Given the description of an element on the screen output the (x, y) to click on. 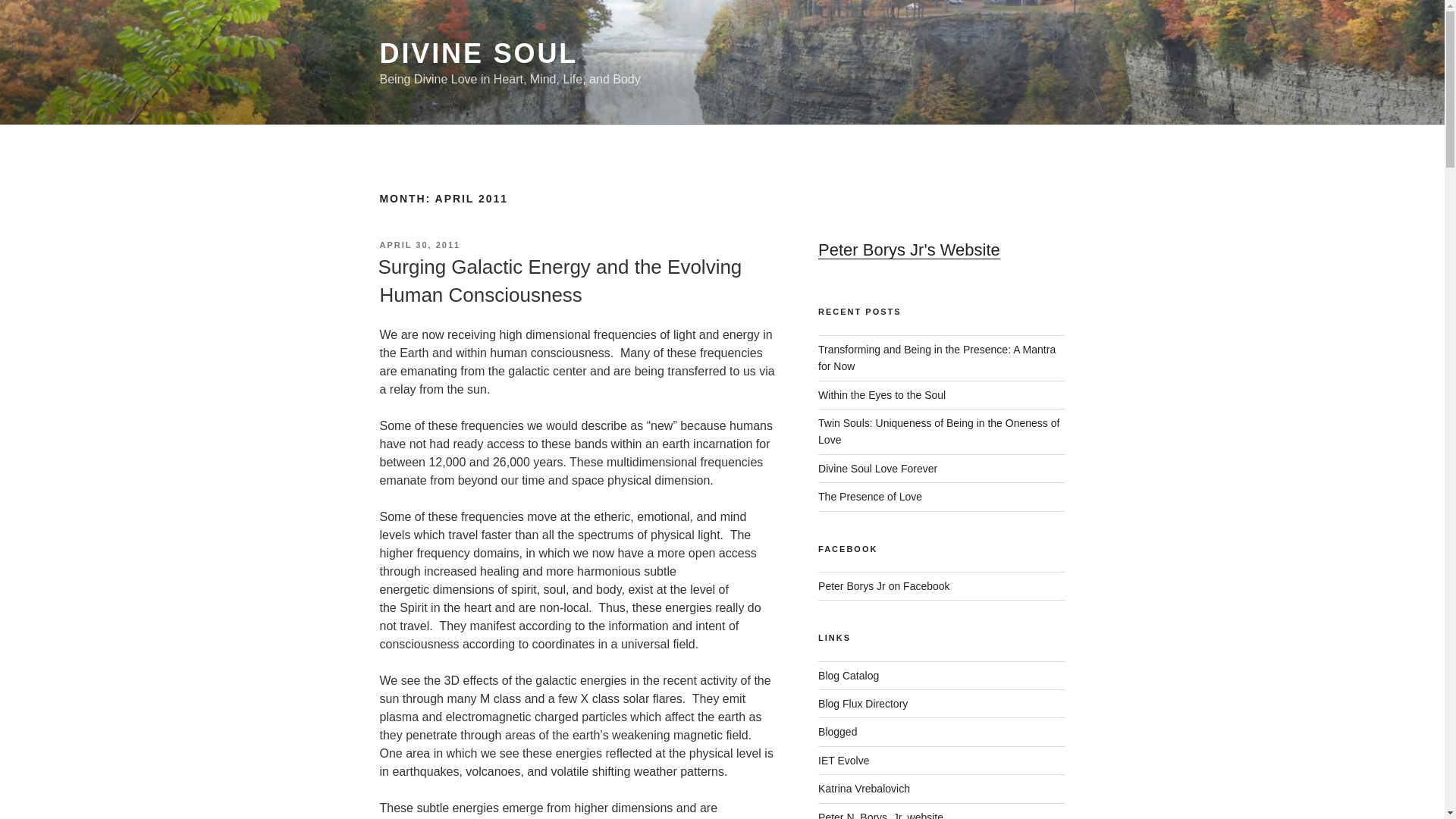
The Presence of Love (869, 496)
Katrina Vrebalovich (864, 788)
Peter Borys Jr's Website (909, 249)
DIVINE SOUL (478, 52)
Blog Catalog (848, 675)
Divine Soul Love Forever (877, 468)
The website of Peter N. Borys, Jr. (880, 815)
Twin Souls: Uniqueness of Being in the Oneness of Love (938, 430)
Peter Borys Jr on Facebook (884, 585)
Transforming and Being in the Presence: A Mantra for Now (936, 357)
The blog flux directory (862, 703)
Blog Flux Directory (862, 703)
Blogged (837, 731)
magicaleye.net (864, 788)
APRIL 30, 2011 (419, 244)
